Given the description of an element on the screen output the (x, y) to click on. 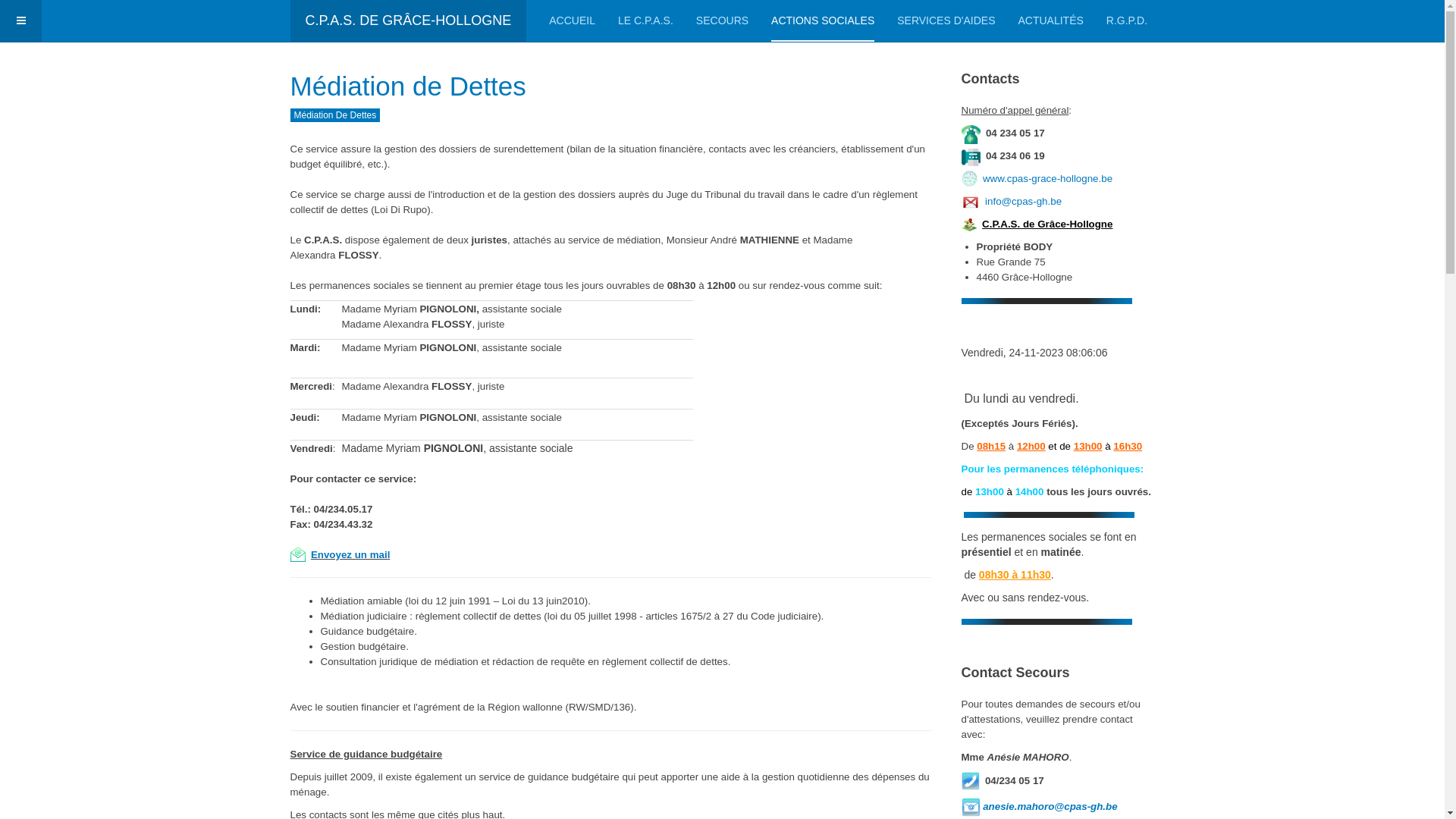
info@cpas-gh.be Element type: text (1023, 201)
R.G.P.D. Element type: text (1126, 20)
SERVICES D'AIDES Element type: text (945, 20)
www.cpas-grace-hollogne.be Element type: text (1047, 178)
SECOURS Element type: text (722, 20)
anesie.mahoro@cpas-gh.be Element type: text (1049, 806)
ACTIONS SOCIALES Element type: text (822, 20)
LE C.P.A.S. Element type: text (645, 20)
Envoyez un mail Element type: text (349, 554)
ACCUEIL Element type: text (572, 20)
